Given the description of an element on the screen output the (x, y) to click on. 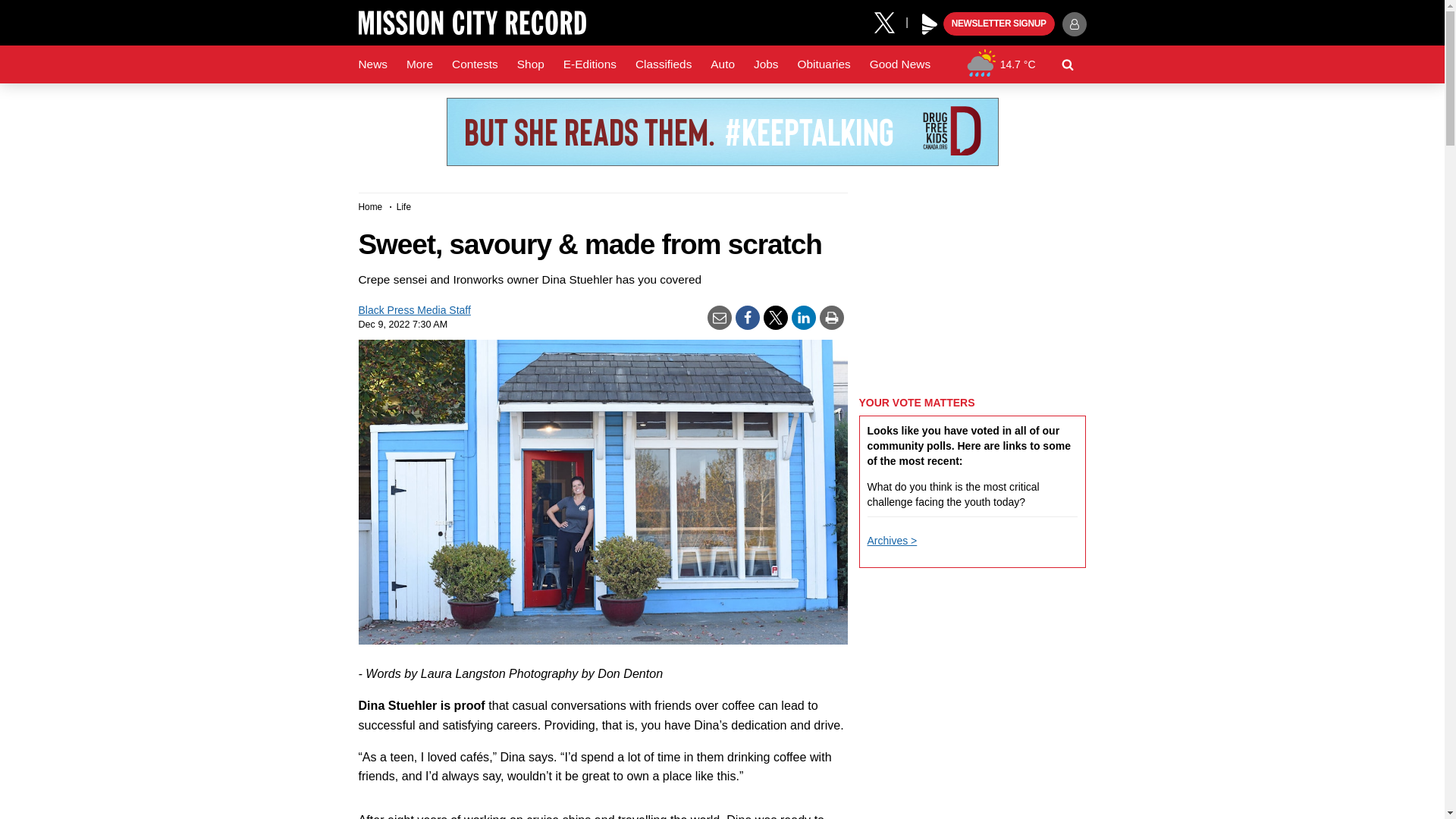
Black Press Media (929, 24)
Play (929, 24)
3rd party ad content (721, 131)
News (372, 64)
X (889, 21)
NEWSLETTER SIGNUP (998, 24)
